Given the description of an element on the screen output the (x, y) to click on. 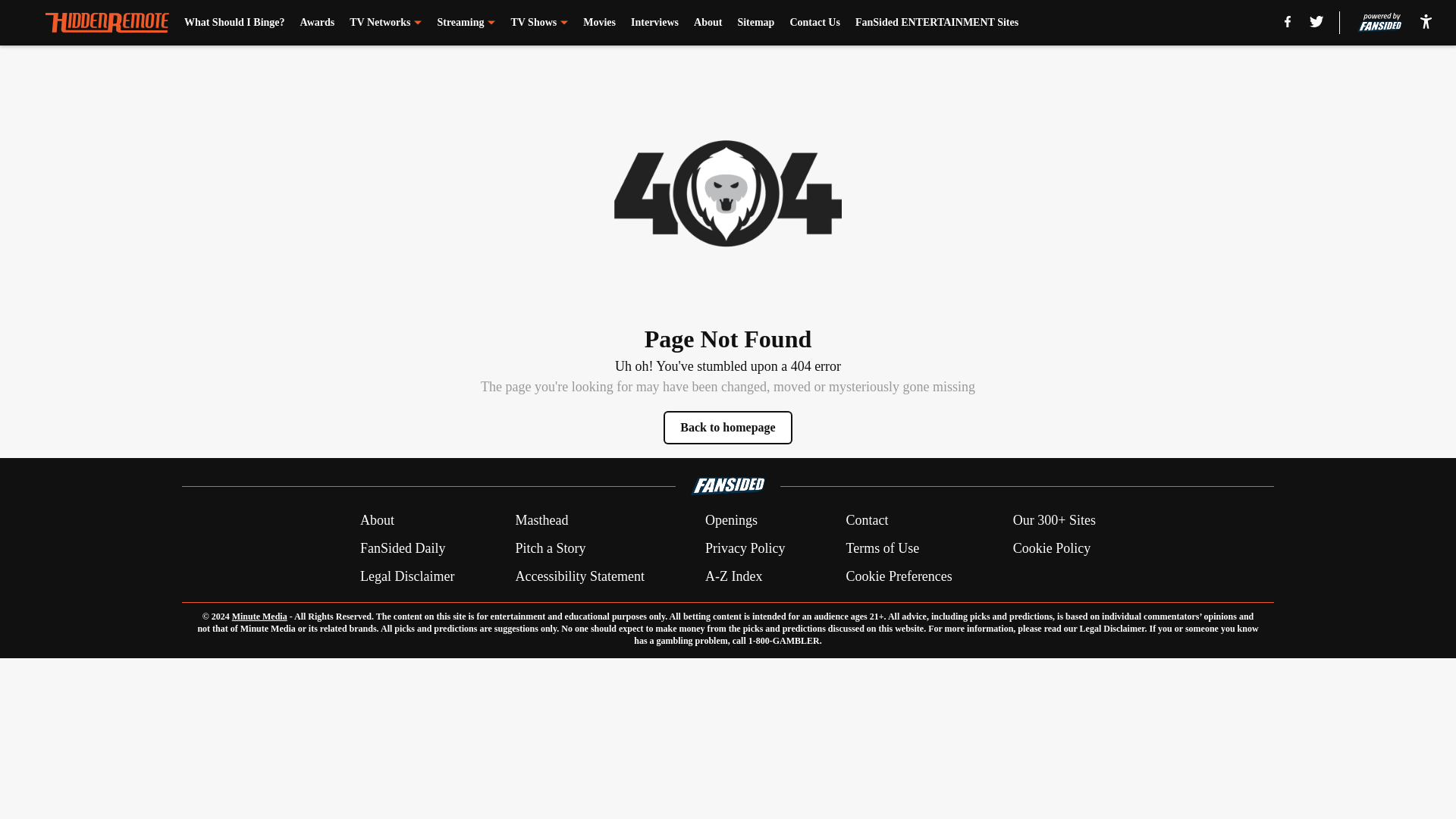
Contact (866, 520)
About (376, 520)
Openings (730, 520)
What Should I Binge? (234, 22)
Sitemap (755, 22)
Awards (316, 22)
Movies (599, 22)
About (708, 22)
FanSided ENTERTAINMENT Sites (936, 22)
Masthead (541, 520)
Contact Us (814, 22)
Interviews (654, 22)
Error image (727, 193)
Back to homepage (727, 427)
